Given the description of an element on the screen output the (x, y) to click on. 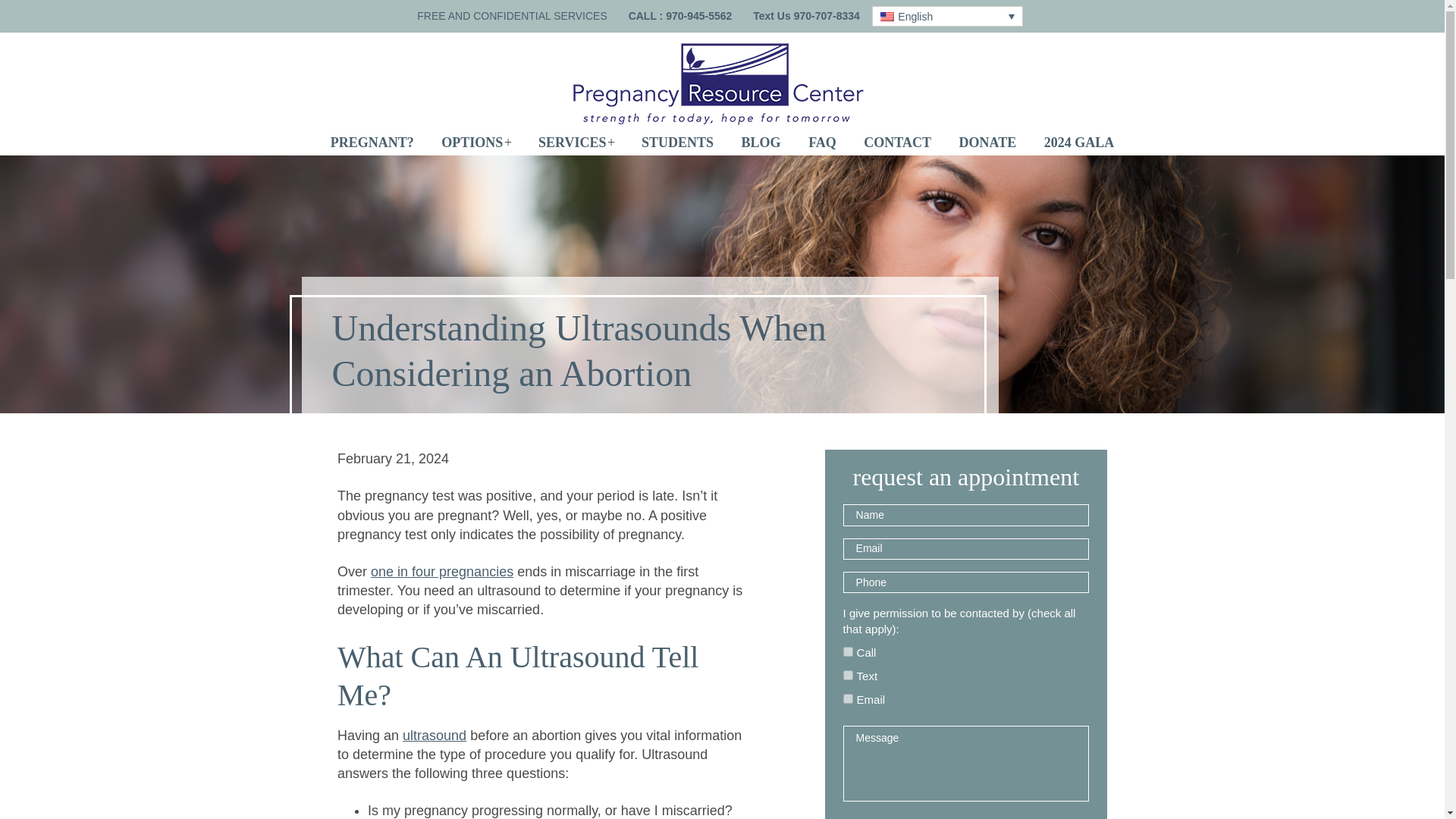
Students (676, 142)
Services (571, 142)
BLOG (761, 142)
STUDENTS (676, 142)
Text (848, 675)
DONATE (986, 142)
970-945-5562 (698, 15)
2024 GALA (1079, 142)
PREGNANT? (372, 142)
Blog (761, 142)
